Given the description of an element on the screen output the (x, y) to click on. 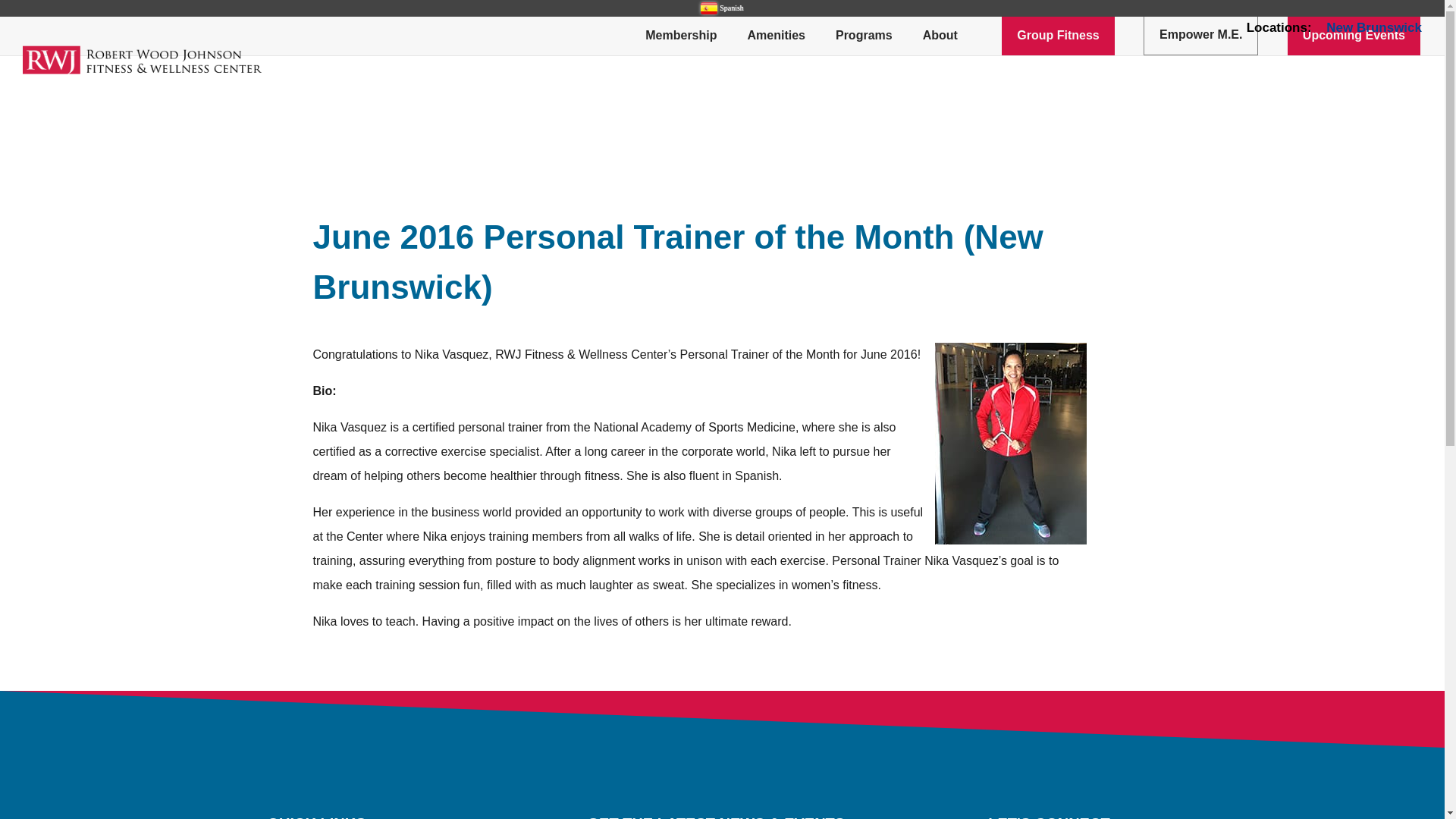
Locations: (1278, 32)
Spanish (721, 8)
Amenities (776, 35)
Membership (681, 35)
New Brunswick (1374, 32)
Programs (864, 35)
Spanish (721, 8)
